Given the description of an element on the screen output the (x, y) to click on. 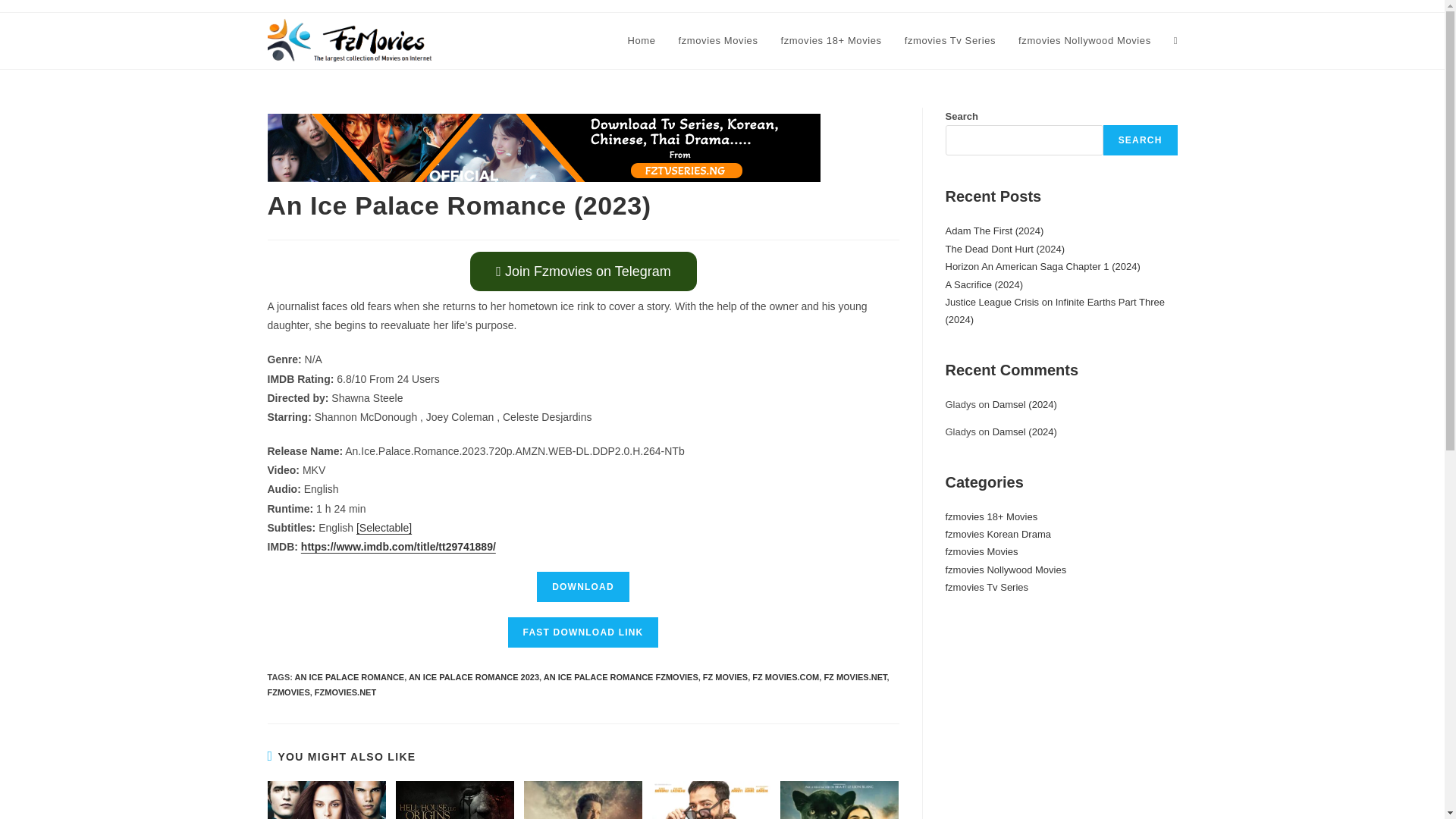
AN ICE PALACE ROMANCE FZMOVIES (620, 676)
Join Fzmovies on Telegram (583, 271)
FZMOVIES.NET (344, 691)
FZMOVIES (287, 691)
fzmovies Tv Series (950, 40)
FZ MOVIES.NET (855, 676)
FZ MOVIES.COM (785, 676)
Fast Download Link (583, 632)
AN ICE PALACE ROMANCE (349, 676)
Fast Download Link (583, 632)
Download (582, 586)
FZ MOVIES (725, 676)
AN ICE PALACE ROMANCE 2023 (473, 676)
fzmovies Movies (717, 40)
Download (582, 586)
